Given the description of an element on the screen output the (x, y) to click on. 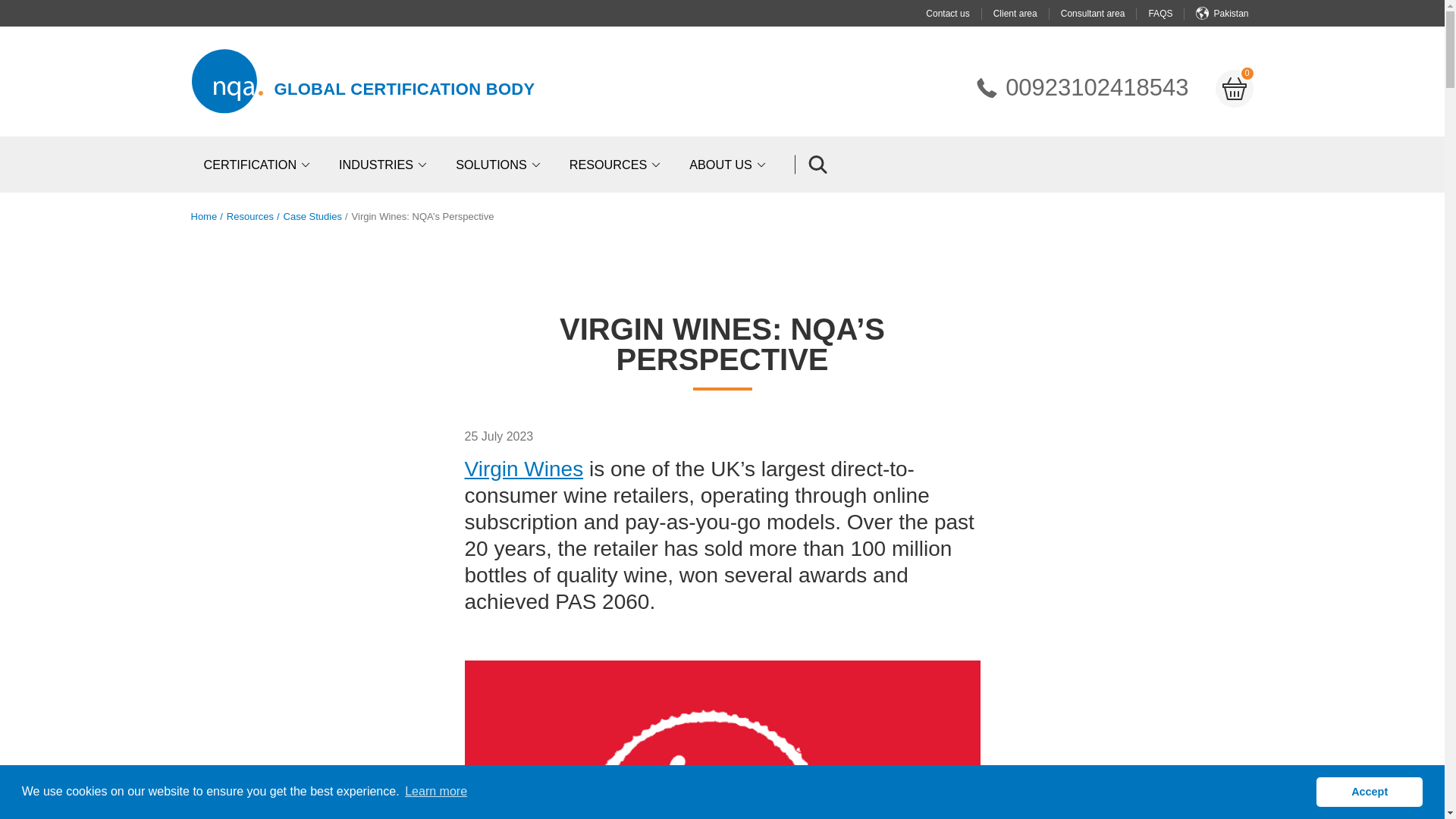
INDUSTRIES (385, 164)
GLOBAL CERTIFICATION BODY (405, 88)
Contact us (959, 12)
NQA logo (226, 81)
Phone Created with Sketch. (987, 87)
Consultant area (1104, 12)
Accept (1369, 791)
Learn more (435, 791)
CERTIFICATION (258, 164)
Pakistan (1230, 12)
SOLUTIONS (500, 164)
Client area (1026, 12)
FAQS (1081, 87)
